Given the description of an element on the screen output the (x, y) to click on. 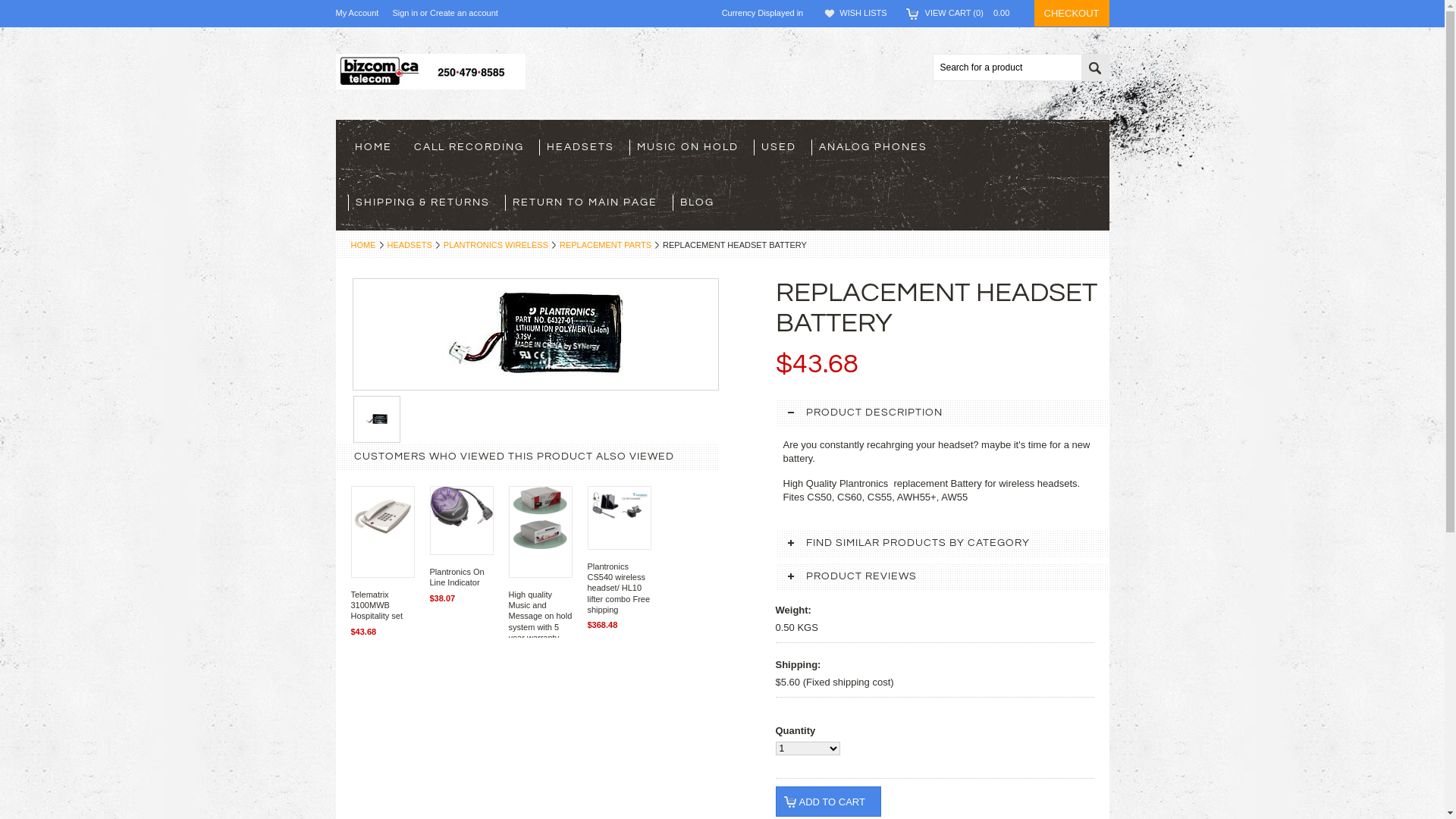
Image 1 Element type: hover (376, 418)
CALL RECORDING Element type: text (472, 147)
USED Element type: text (782, 147)
Image 1 Element type: hover (535, 332)
RETURN TO MAIN PAGE Element type: text (588, 202)
HOME Element type: text (366, 244)
MUSIC ON HOLD Element type: text (691, 147)
Add to Cart Element type: text (827, 801)
PLANTRONICS WIRELESS Element type: text (499, 244)
BLOG Element type: text (699, 202)
CHECKOUT Element type: text (1071, 13)
VIEW CART (0) 0.00     Element type: text (972, 12)
My Account Element type: text (356, 12)
0 Element type: text (376, 418)
SHIPPING & RETURNS Element type: text (425, 202)
HOME Element type: text (376, 147)
ANALOG PHONES Element type: text (876, 147)
SEARCH Element type: text (1094, 67)
Sign in Element type: text (404, 13)
HEADSETS Element type: text (583, 147)
REPLACEMENT PARTS Element type: text (608, 244)
HEADSETS Element type: text (412, 244)
Create an account Element type: text (463, 13)
Telematrix 3100MWB Hospitality set Element type: text (375, 605)
Plantronics On Line Indicator Element type: text (456, 576)
WISH LISTS Element type: text (862, 12)
